Given the description of an element on the screen output the (x, y) to click on. 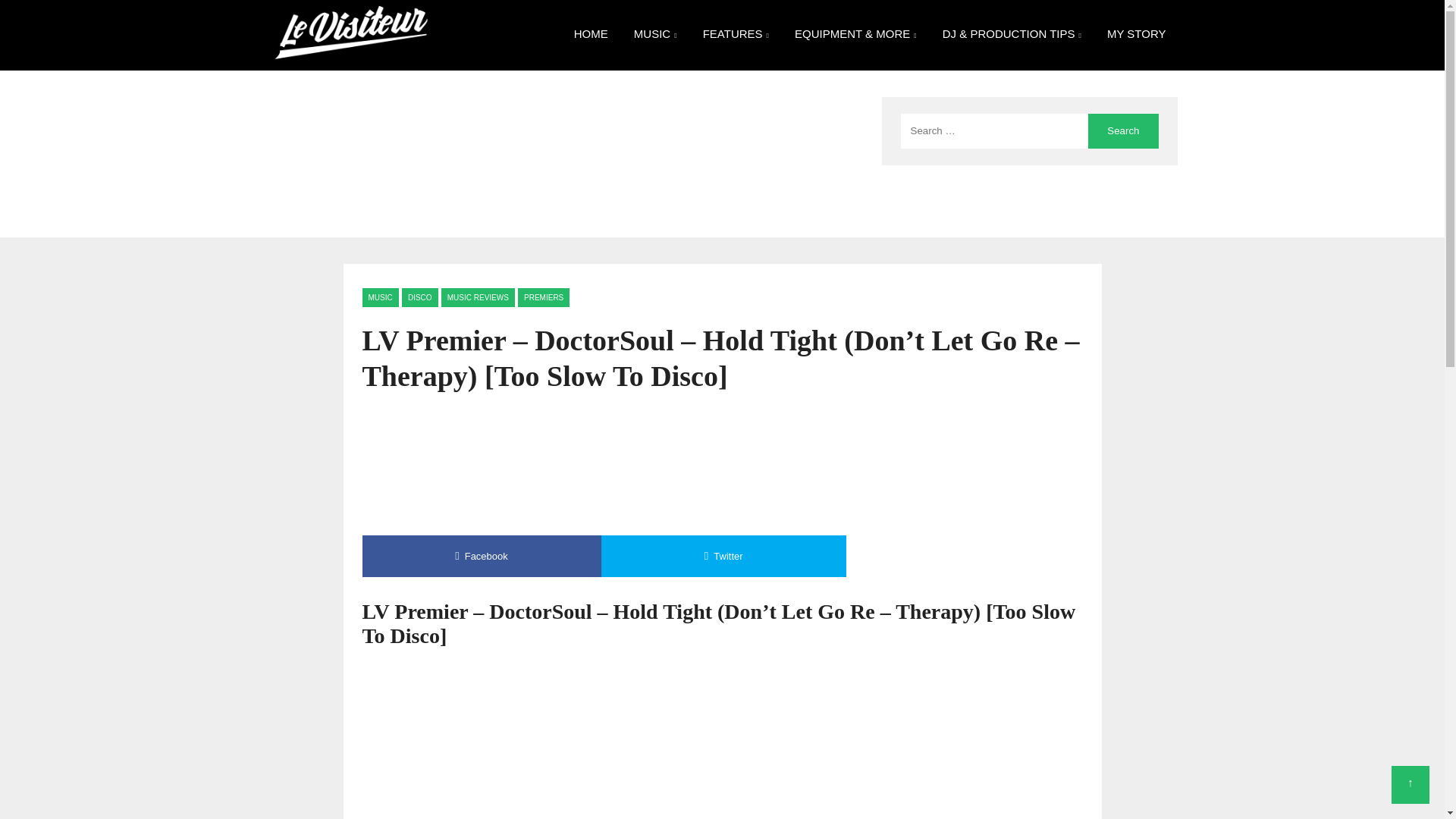
FEATURES (735, 34)
Search (1122, 130)
Le Visiteur Online (349, 9)
DISCO (419, 297)
MUSIC (380, 297)
Search (1122, 130)
PREMIERS (543, 297)
MUSIC (655, 34)
MUSIC REVIEWS (478, 297)
Search (1122, 130)
